Given the description of an element on the screen output the (x, y) to click on. 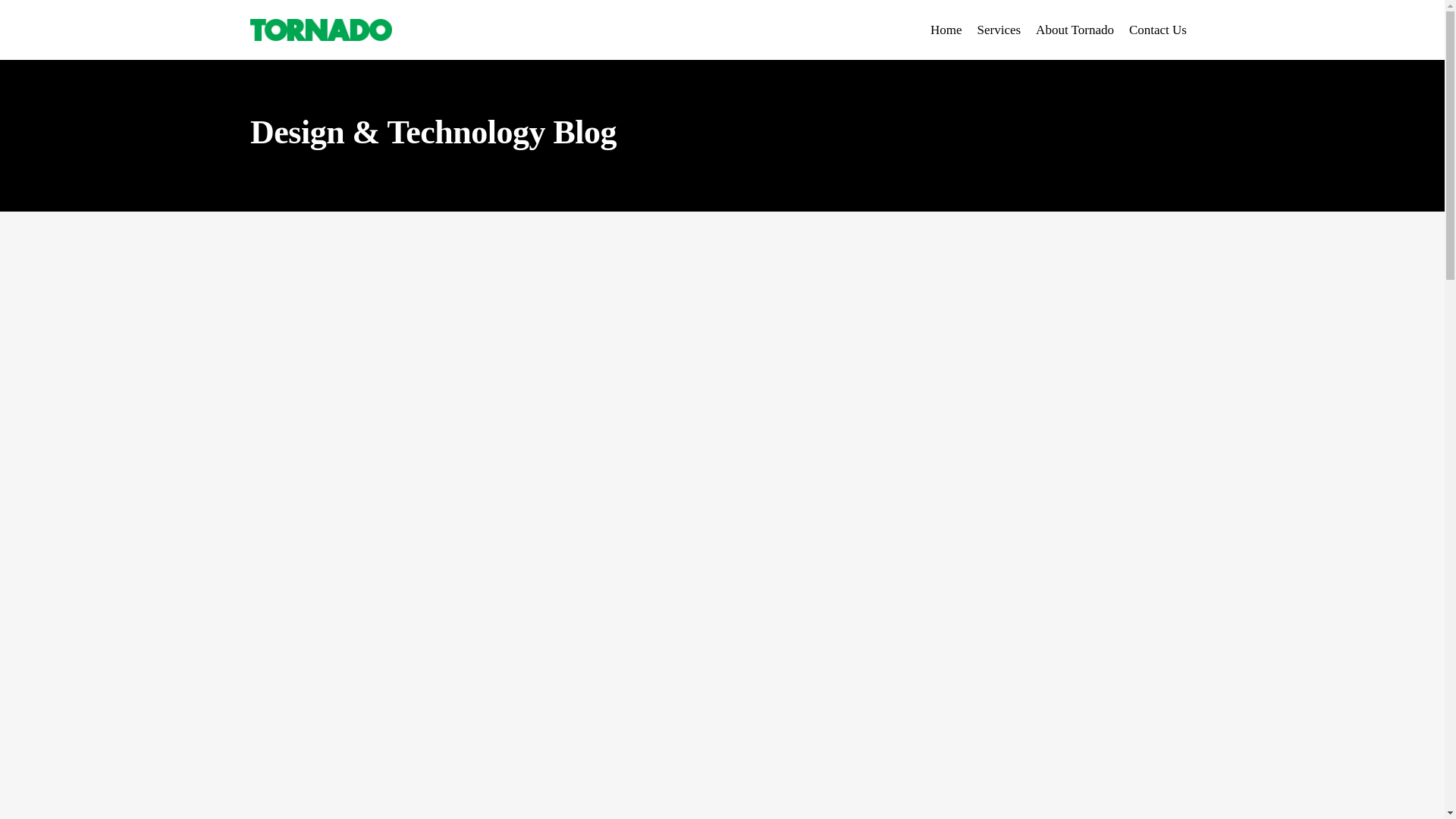
Contact Us (1157, 29)
Home (946, 29)
About Tornado (1074, 29)
Services (999, 29)
